Given the description of an element on the screen output the (x, y) to click on. 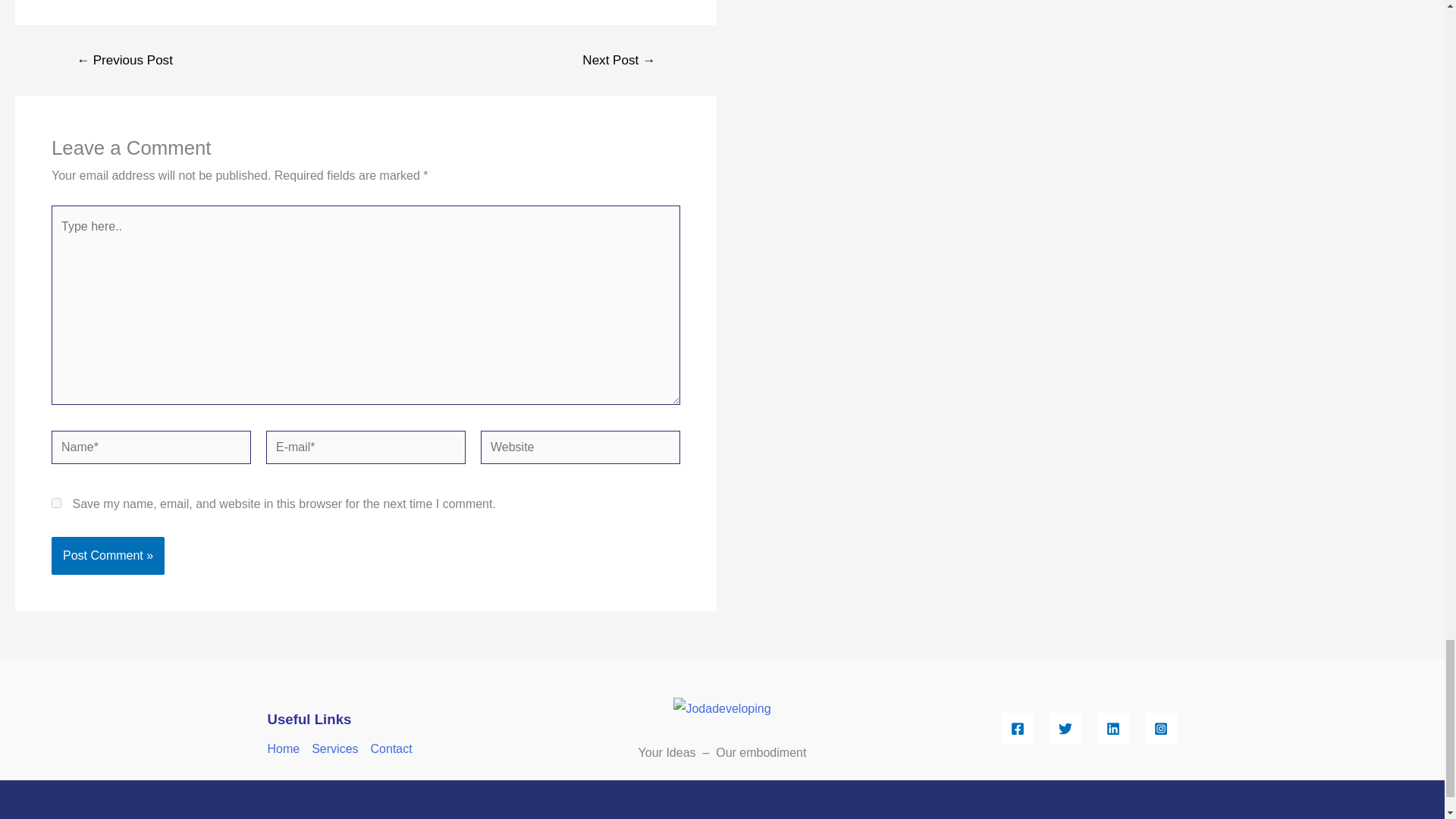
yes (55, 502)
